Given the description of an element on the screen output the (x, y) to click on. 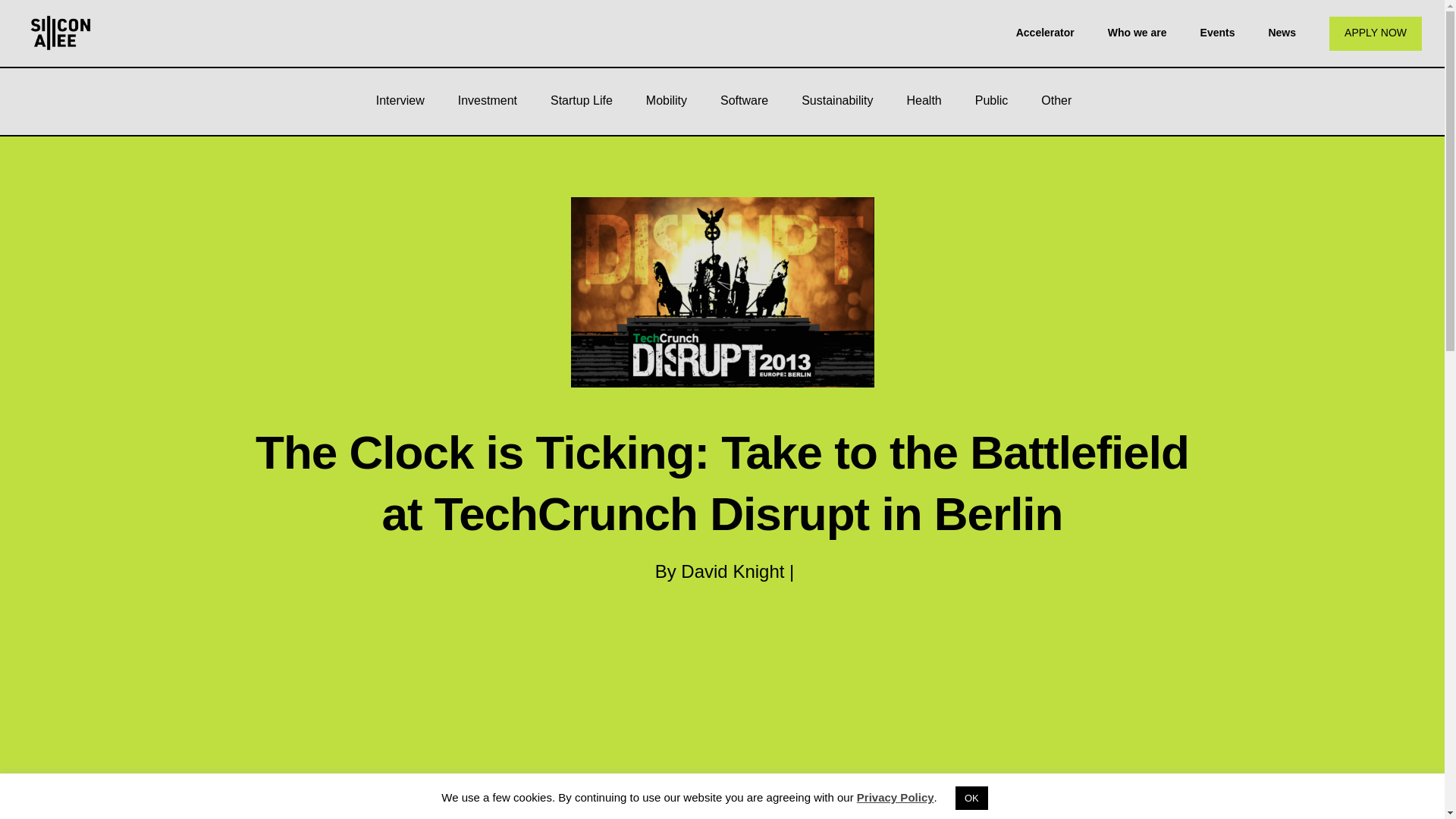
Interview (400, 100)
Software (743, 100)
APPLY NOW (1375, 33)
Investment (487, 100)
Sustainability (837, 100)
Accelerator (1045, 31)
News (1281, 31)
Mobility (665, 100)
Startup Life (581, 100)
Health (923, 100)
